Given the description of an element on the screen output the (x, y) to click on. 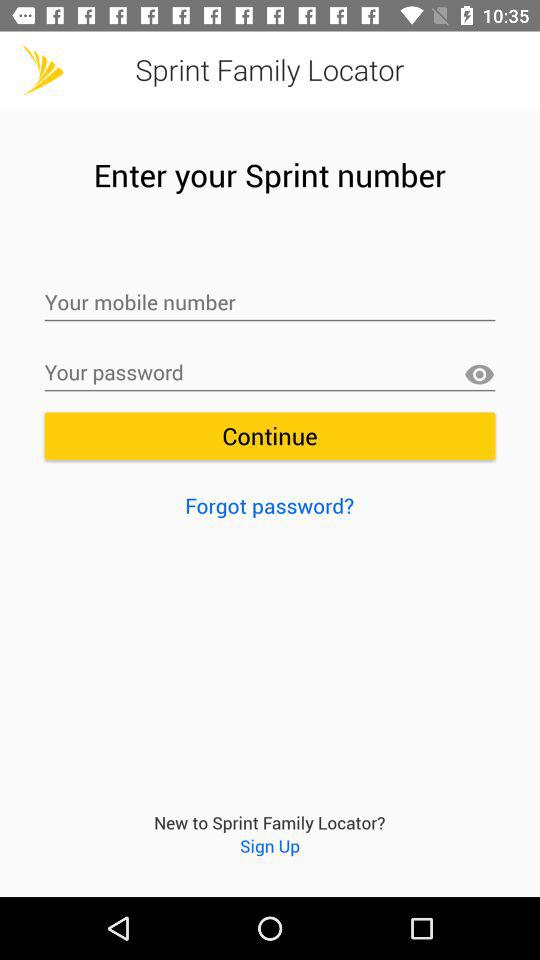
enter your password (269, 373)
